Given the description of an element on the screen output the (x, y) to click on. 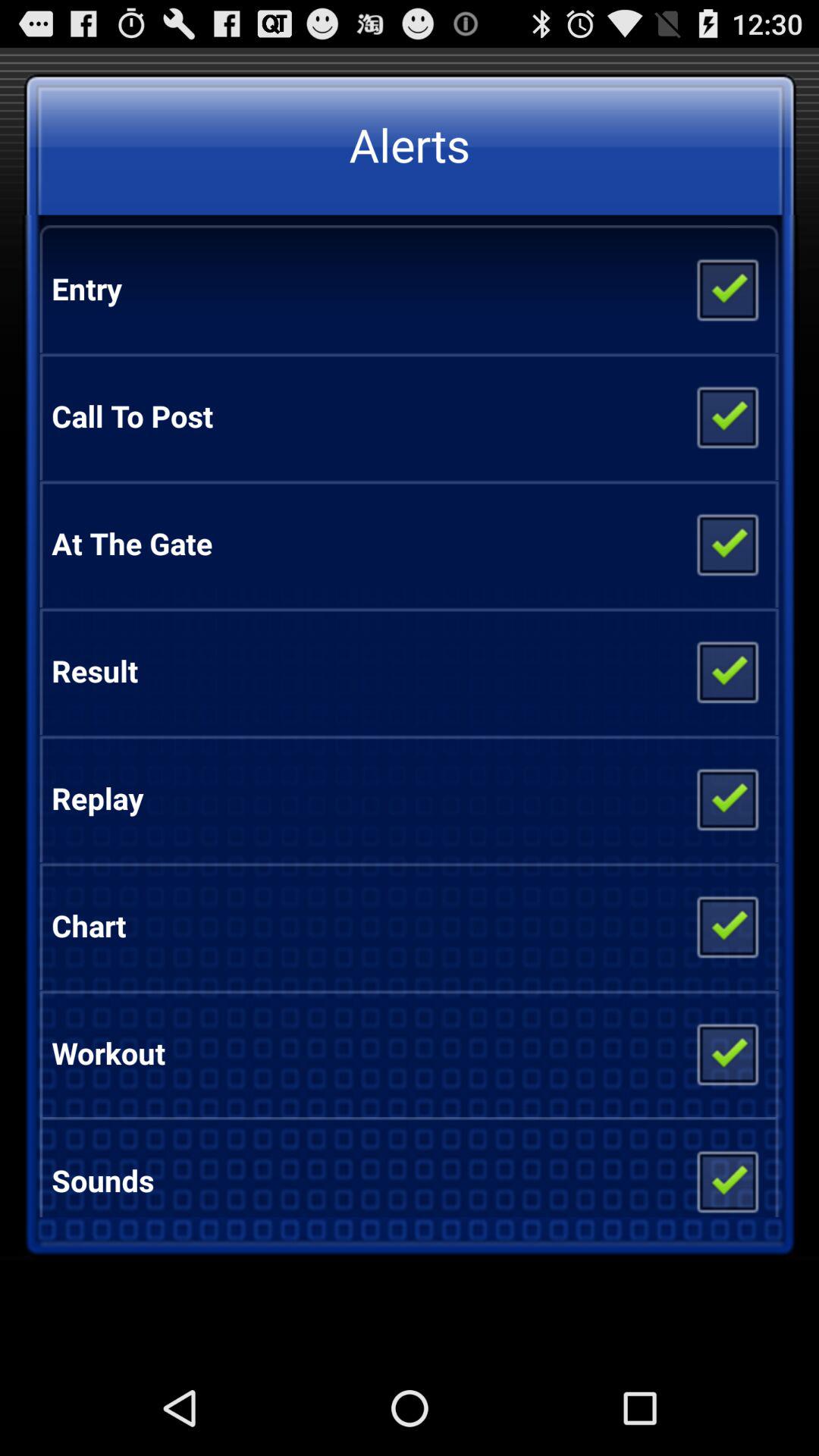
turn off item to the right of call to post app (726, 416)
